Given the description of an element on the screen output the (x, y) to click on. 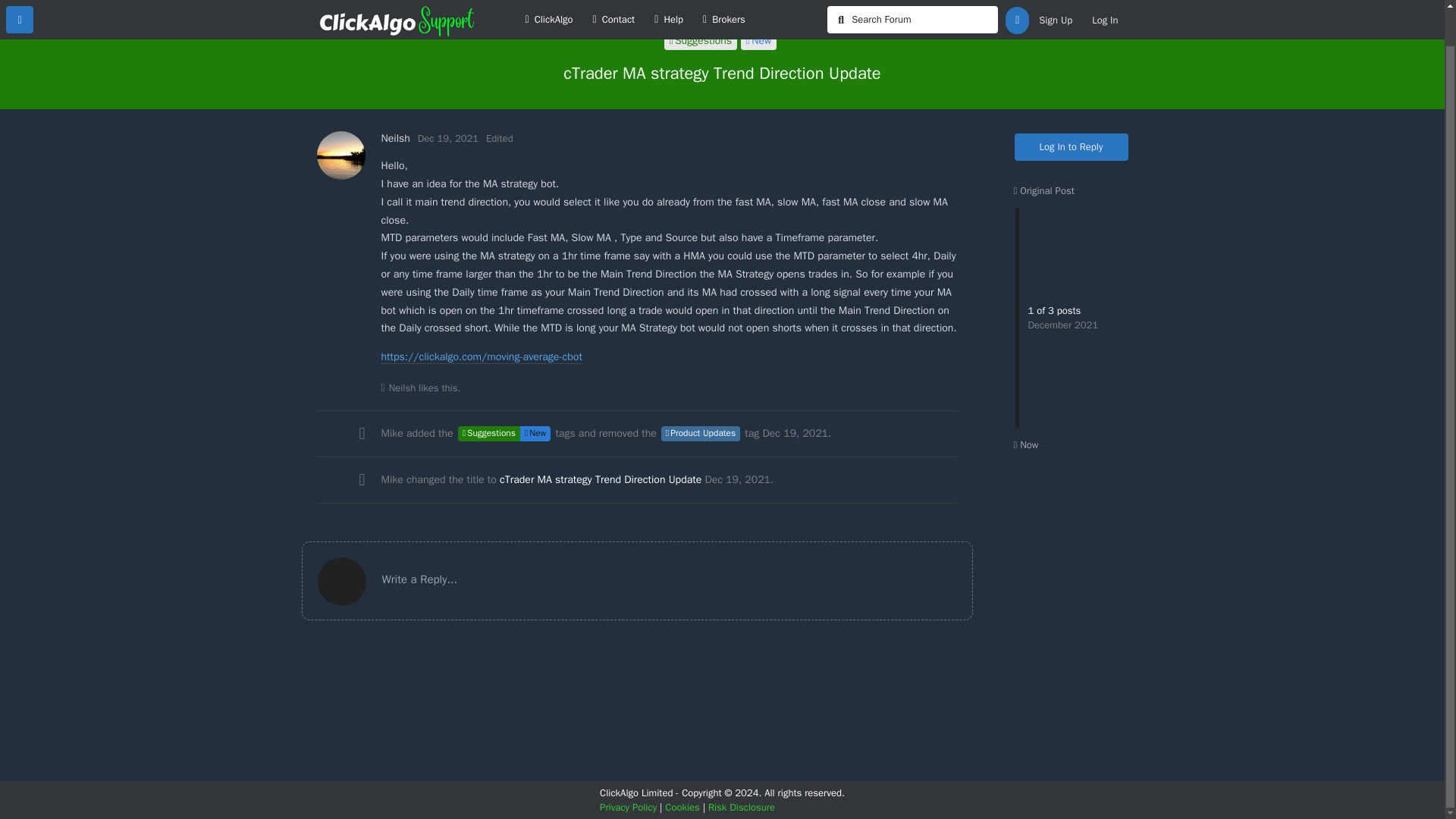
New (758, 40)
Log In to Reply (1071, 146)
Neilsh (394, 137)
New (534, 433)
Suggestions (488, 433)
Dec 19, 2021 (448, 137)
Cookies (681, 807)
Neilsh (402, 387)
Original Post (1043, 190)
Sunday, December 19, 2021 2:53 PM (737, 479)
Privacy Policy (627, 807)
Now (1025, 444)
